Given the description of an element on the screen output the (x, y) to click on. 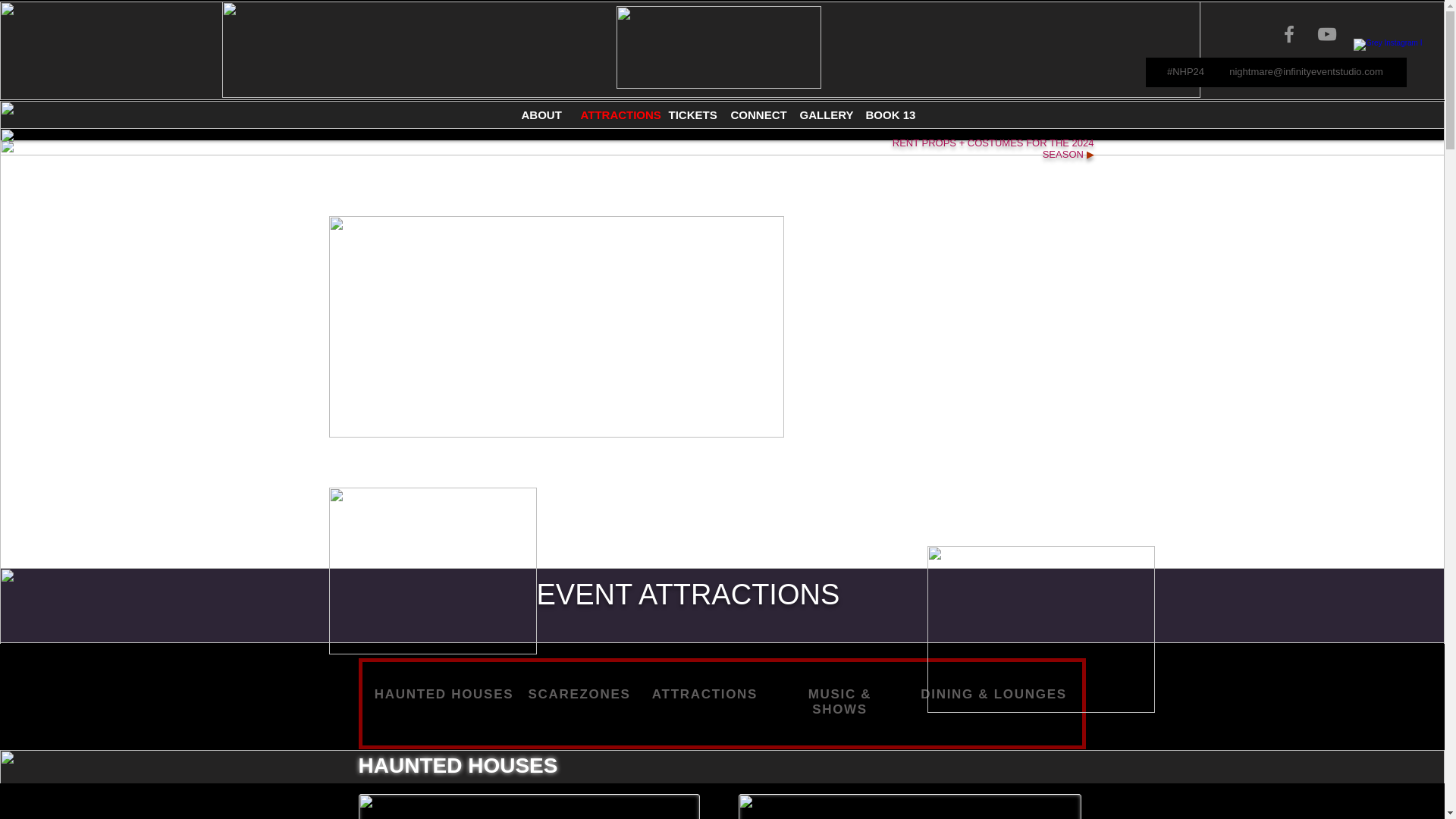
HAUNTED HOUSES (443, 694)
TICKETS (687, 114)
ATTRACTIONS (704, 694)
SCAREZONES (578, 694)
BOOK 13 (887, 114)
GALLERY (821, 114)
ABOUT (539, 114)
CONNECT (753, 114)
ATTRACTIONS (612, 114)
